Given the description of an element on the screen output the (x, y) to click on. 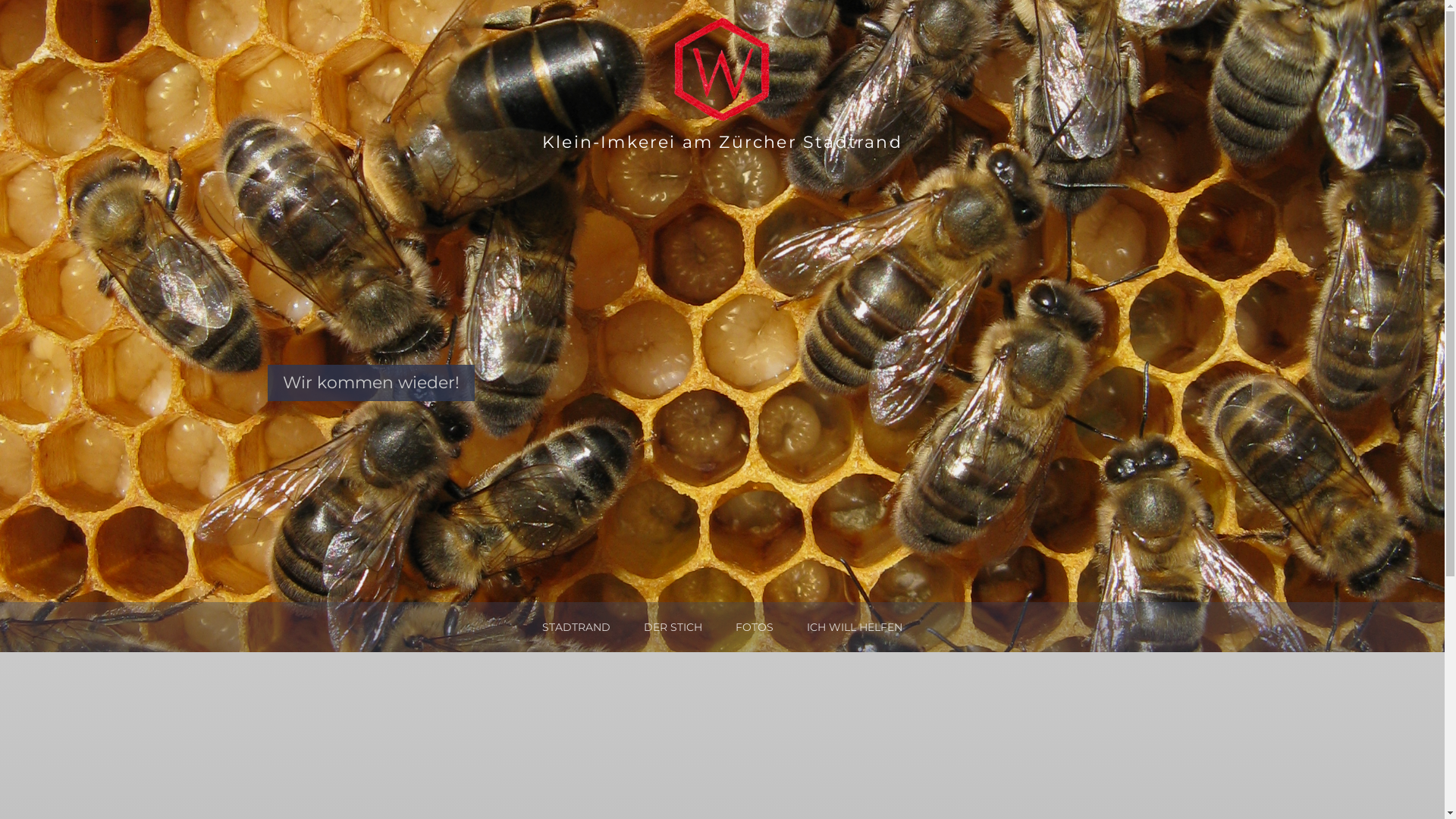
DER STICH Element type: text (672, 626)
Wir kommen wieder! Element type: text (369, 382)
FOTOS Element type: text (754, 626)
ICH WILL HELFEN Element type: text (854, 626)
STADTRAND Element type: text (576, 626)
